Given the description of an element on the screen output the (x, y) to click on. 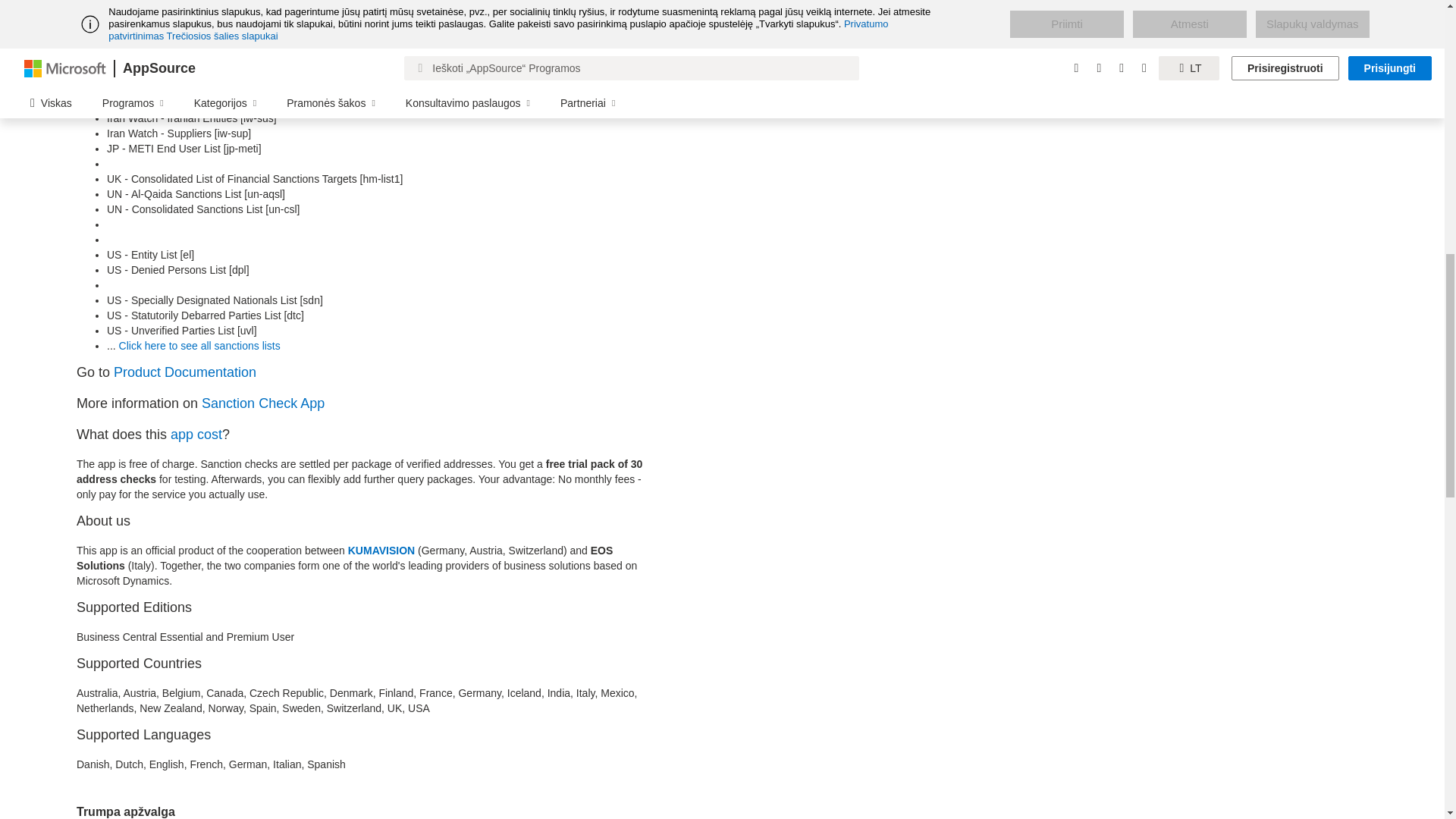
Sanction Check App (263, 403)
Product Documentation (184, 372)
app cost (196, 434)
Click here to see all sanctions lists (200, 345)
KUMAVISION (380, 550)
